Given the description of an element on the screen output the (x, y) to click on. 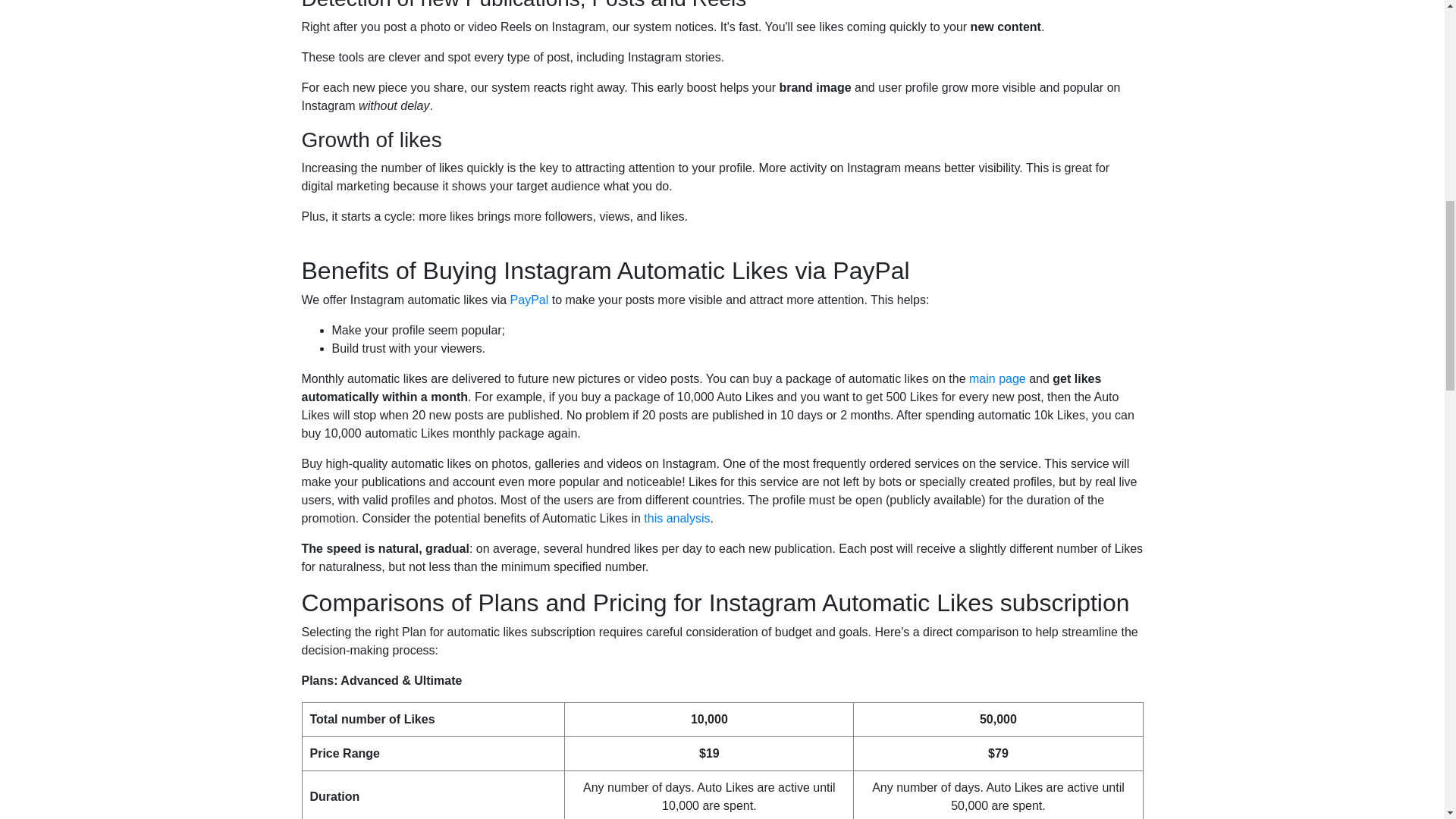
PayPal (529, 299)
main page (997, 378)
this analysis (676, 517)
